Given the description of an element on the screen output the (x, y) to click on. 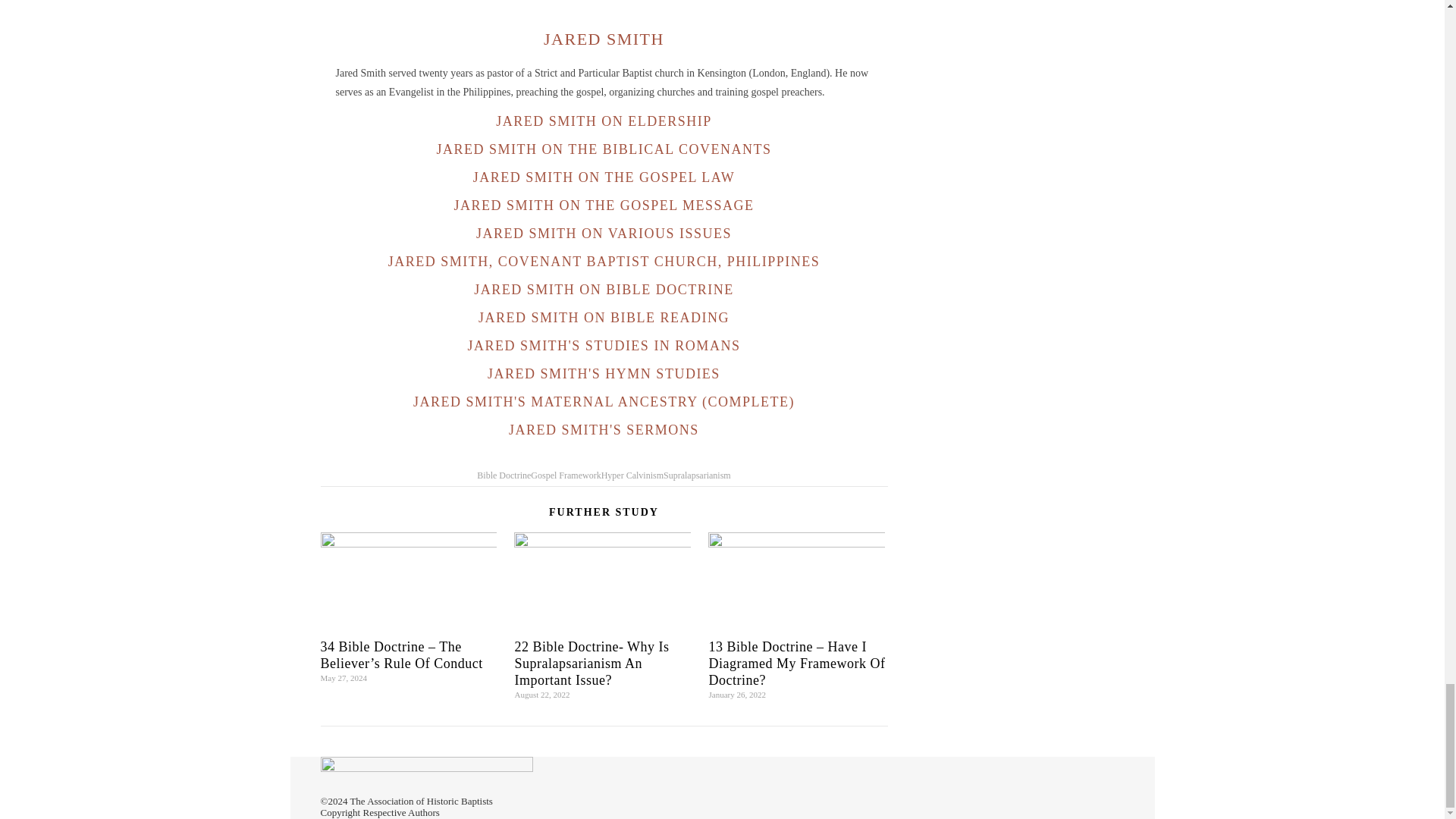
JARED SMITH ON BIBLE DOCTRINE (603, 289)
JARED SMITH'S HYMN STUDIES (603, 373)
JARED SMITH ON VARIOUS ISSUES (604, 233)
JARED SMITH ON THE GOSPEL LAW (604, 177)
JARED SMITH (603, 38)
Bible Doctrine (504, 475)
JARED SMITH ON BIBLE READING (604, 317)
JARED SMITH ON ELDERSHIP (603, 120)
JARED SMITH ON THE GOSPEL MESSAGE (603, 205)
JARED SMITH'S SERMONS (603, 429)
JARED SMITH'S STUDIES IN ROMANS (604, 345)
JARED SMITH ON THE BIBLICAL COVENANTS (603, 149)
JARED SMITH, COVENANT BAPTIST CHURCH, PHILIPPINES (603, 261)
